Given the description of an element on the screen output the (x, y) to click on. 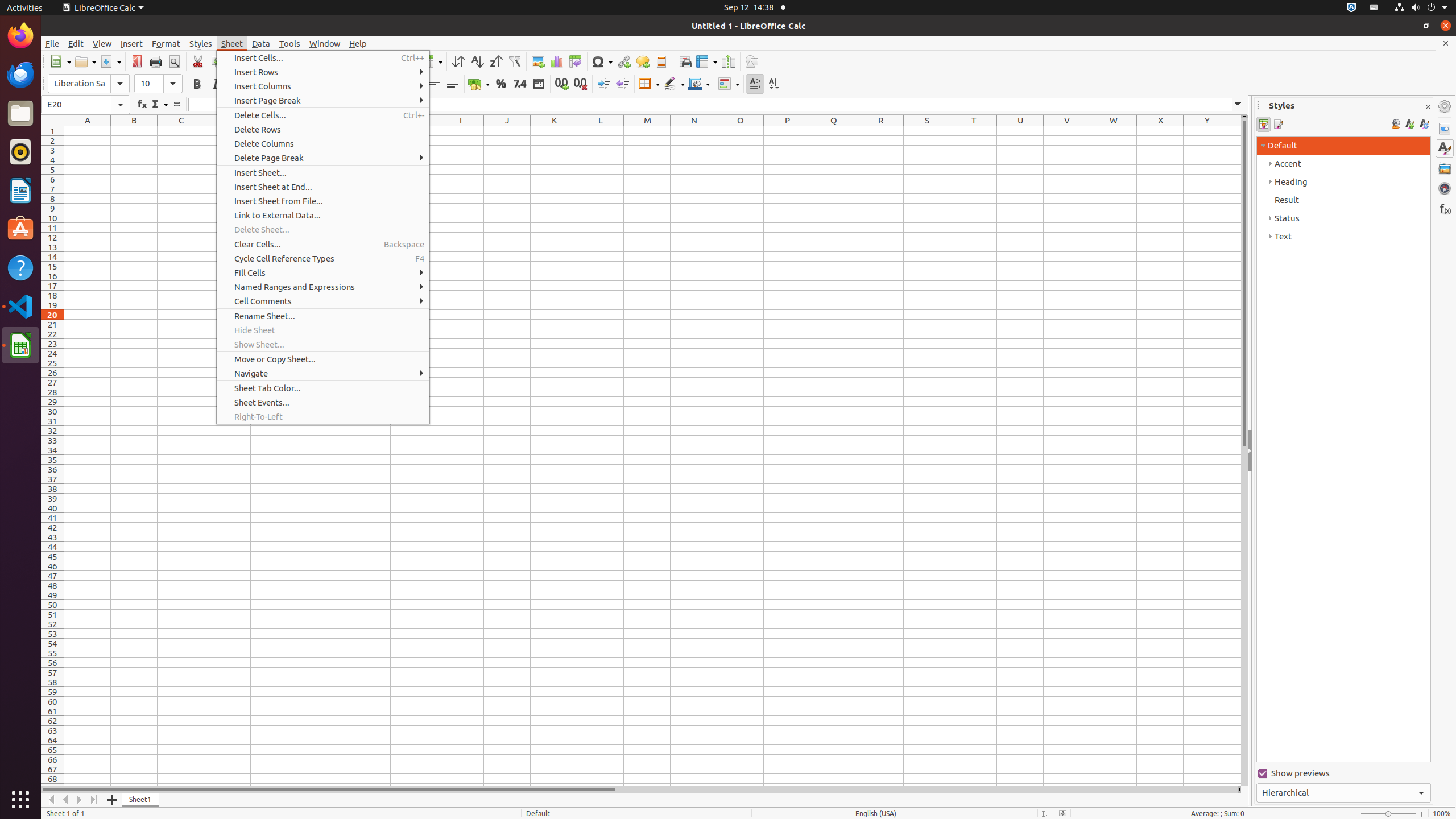
Percent Element type: push-button (500, 83)
S1 Element type: table-cell (926, 130)
LibreOffice Writer Element type: push-button (20, 190)
Add Decimal Place Element type: push-button (561, 83)
Help Element type: push-button (20, 267)
